Given the description of an element on the screen output the (x, y) to click on. 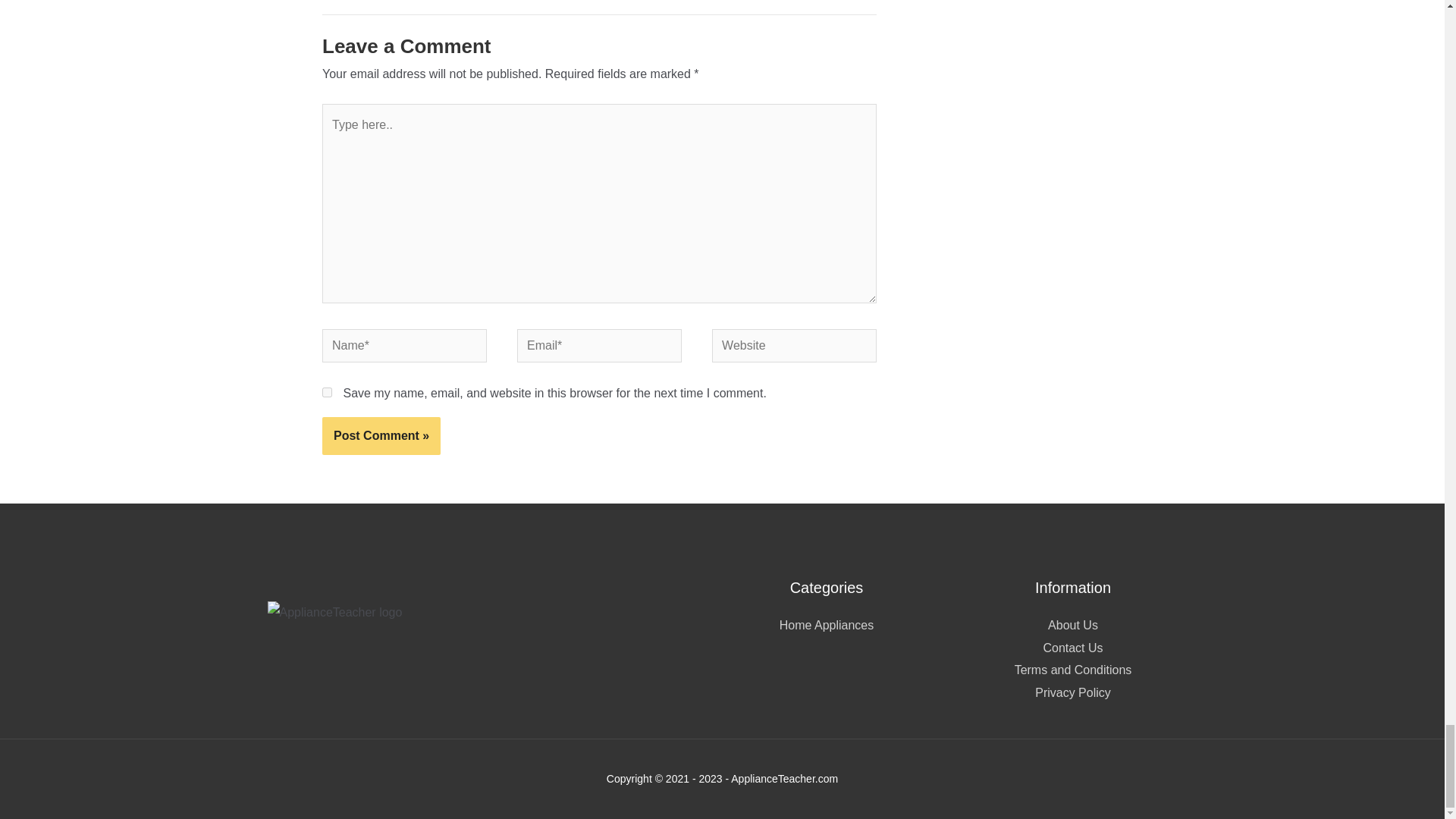
yes (326, 392)
